Given the description of an element on the screen output the (x, y) to click on. 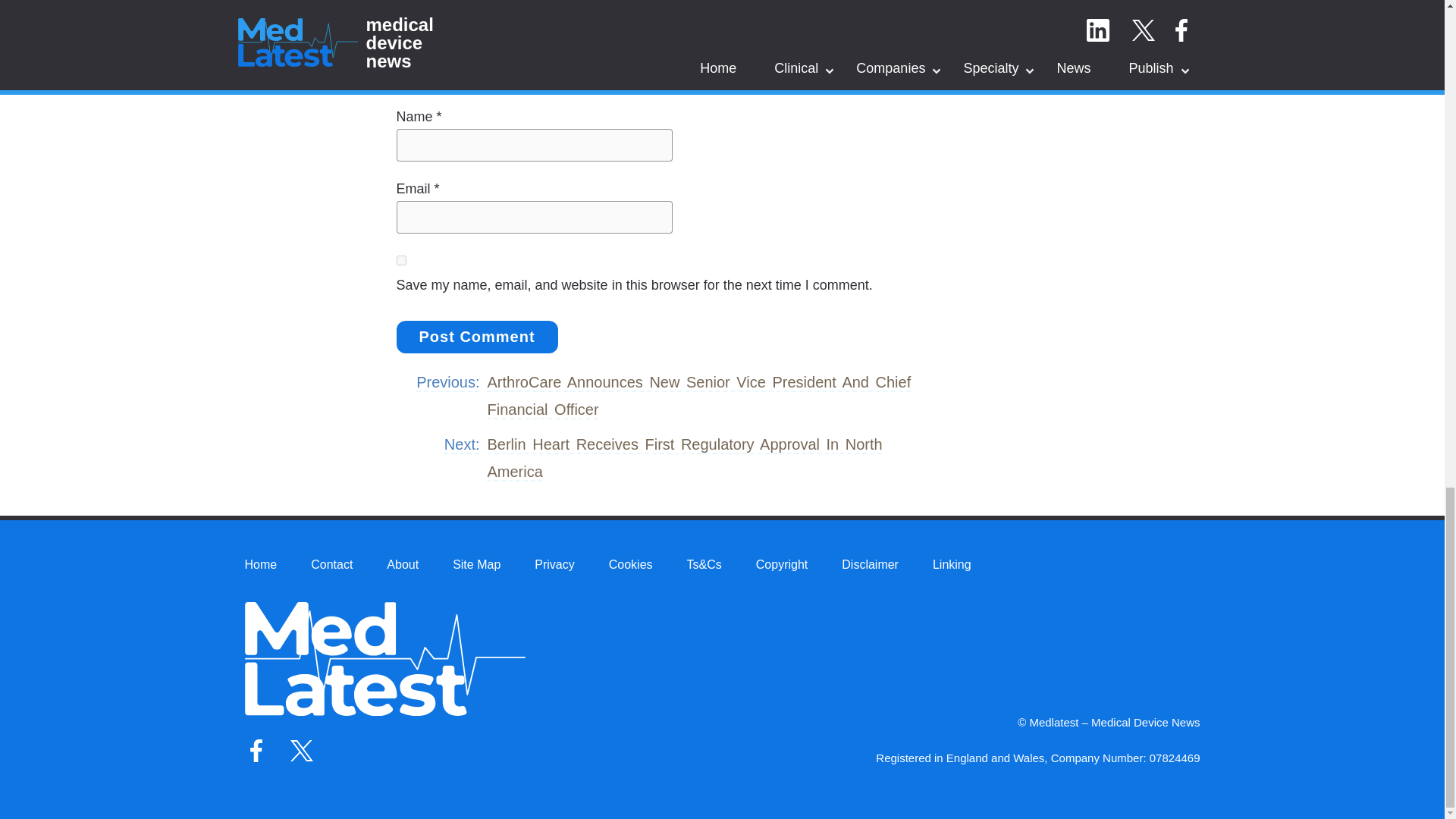
Post Comment (476, 336)
yes (401, 260)
Post Comment (476, 336)
